Given the description of an element on the screen output the (x, y) to click on. 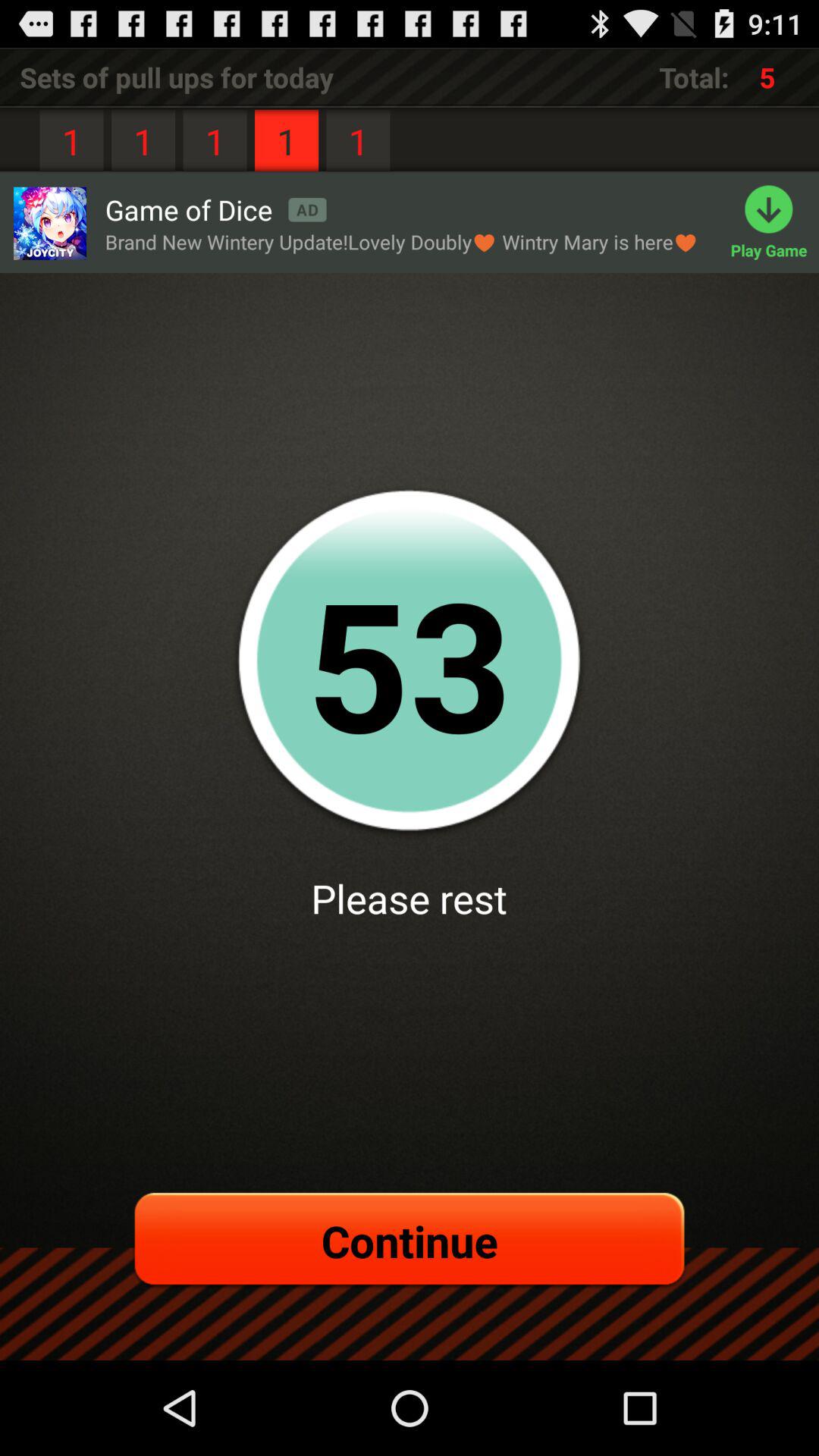
open icon next to the brand new wintery (774, 223)
